Given the description of an element on the screen output the (x, y) to click on. 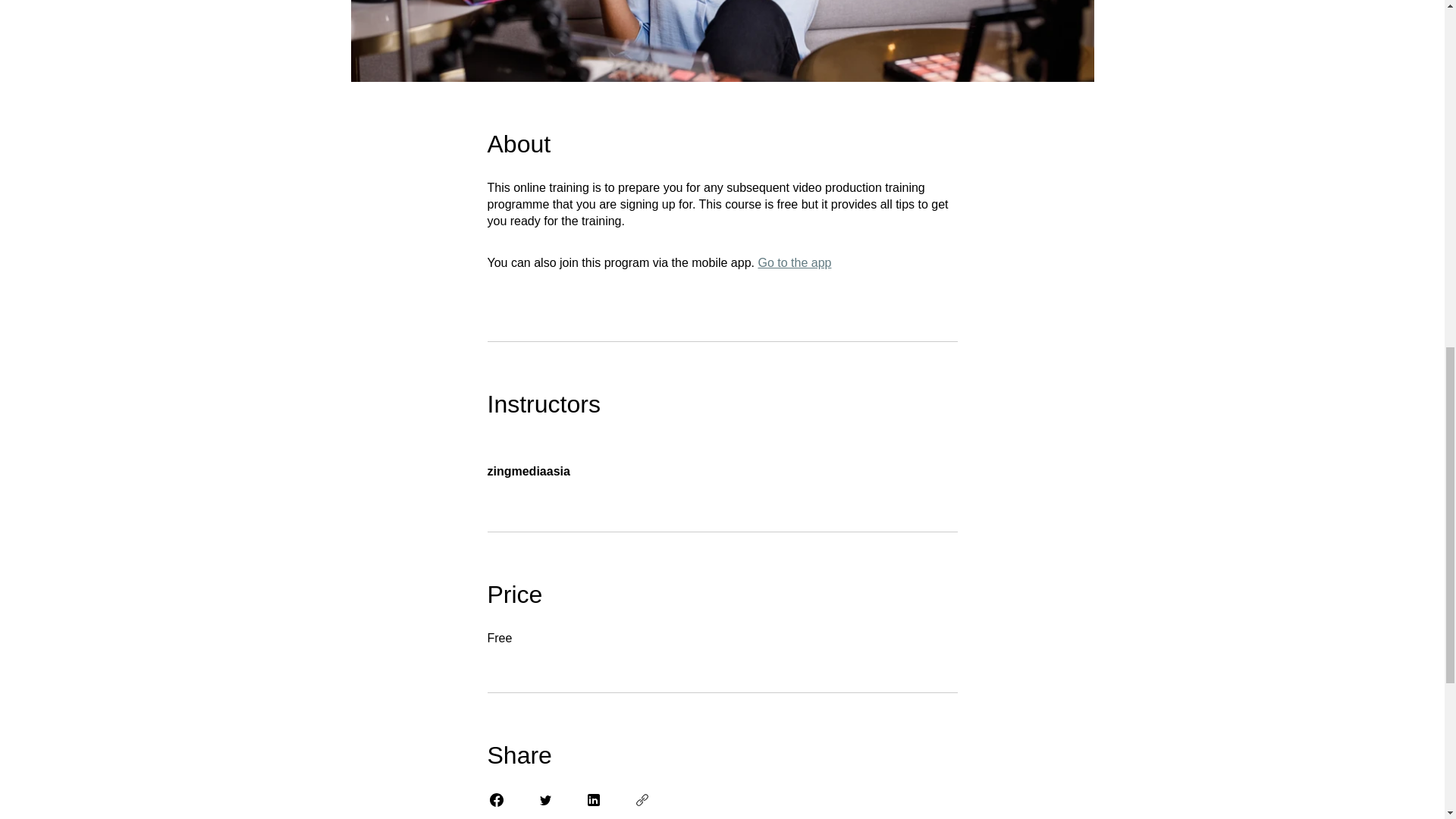
Go to the app (794, 262)
zingmediaasia (721, 462)
